Given the description of an element on the screen output the (x, y) to click on. 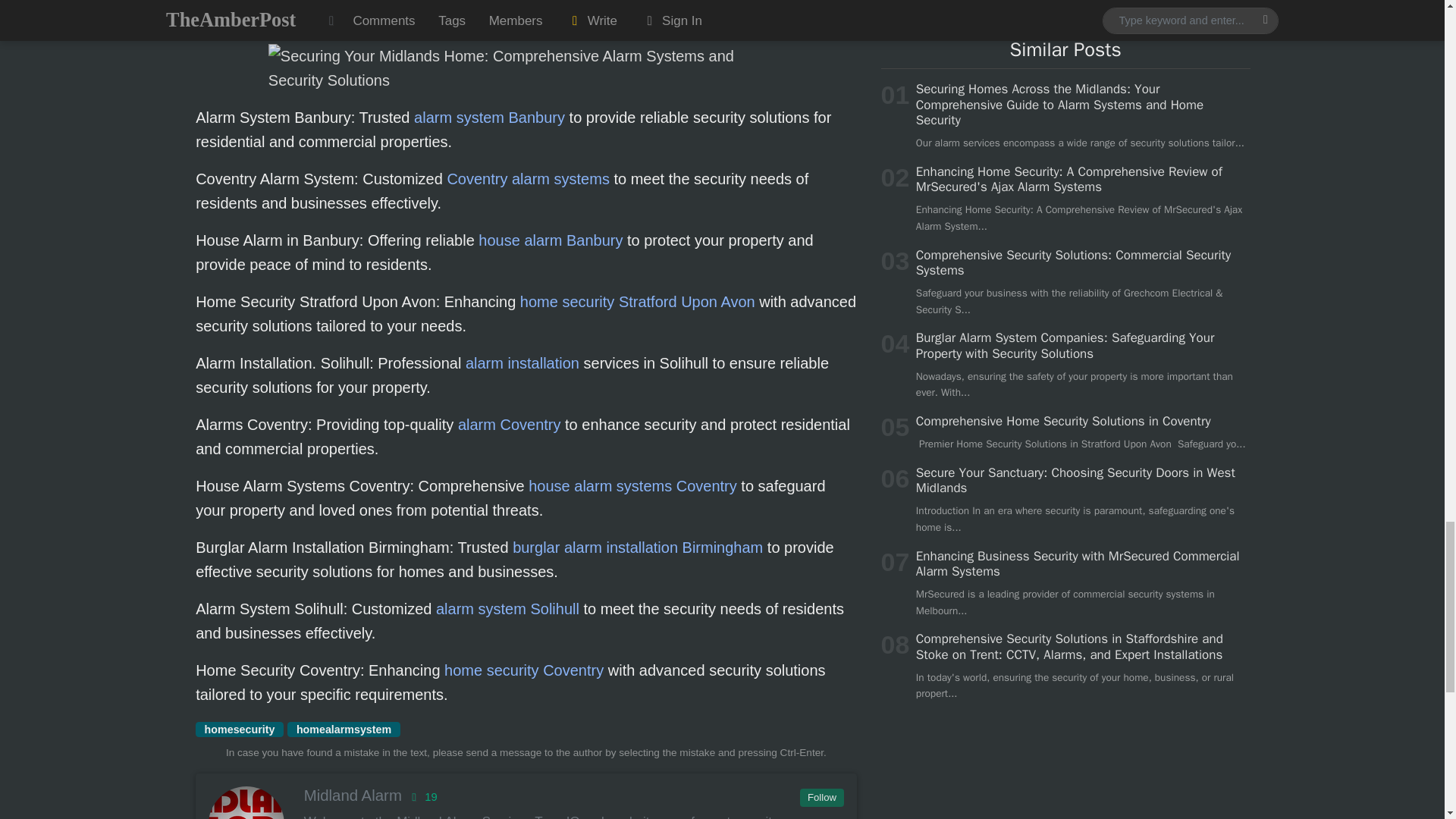
homealarmsystem (342, 729)
homesecurity (239, 729)
Rating (422, 797)
